Given the description of an element on the screen output the (x, y) to click on. 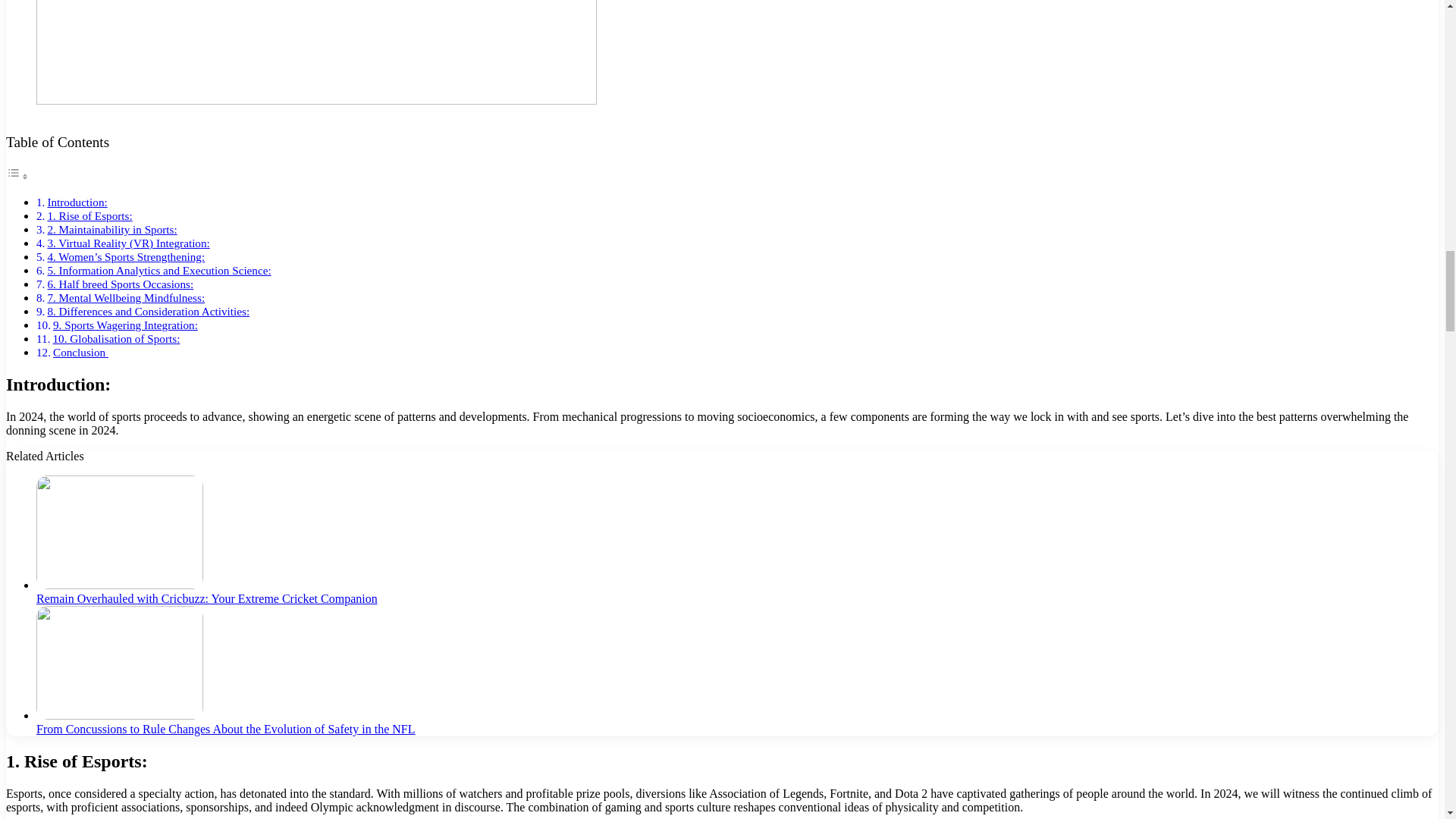
Introduction: (76, 201)
5. Information Analytics and Execution Science: (158, 269)
7. Mental Wellbeing Mindfulness: (125, 297)
10. Globalisation of Sports: (115, 338)
5. Information Analytics and Execution Science: (158, 269)
Conclusion  (79, 351)
2. Maintainability in Sports: (111, 228)
1. Rise of Esports: (89, 215)
6. Half breed Sports Occasions: (119, 283)
8. Differences and Consideration Activities:  (147, 310)
7. Mental Wellbeing Mindfulness: (125, 297)
1. Rise of Esports: (89, 215)
6. Half breed Sports Occasions: (119, 283)
Introduction: (76, 201)
